Given the description of an element on the screen output the (x, y) to click on. 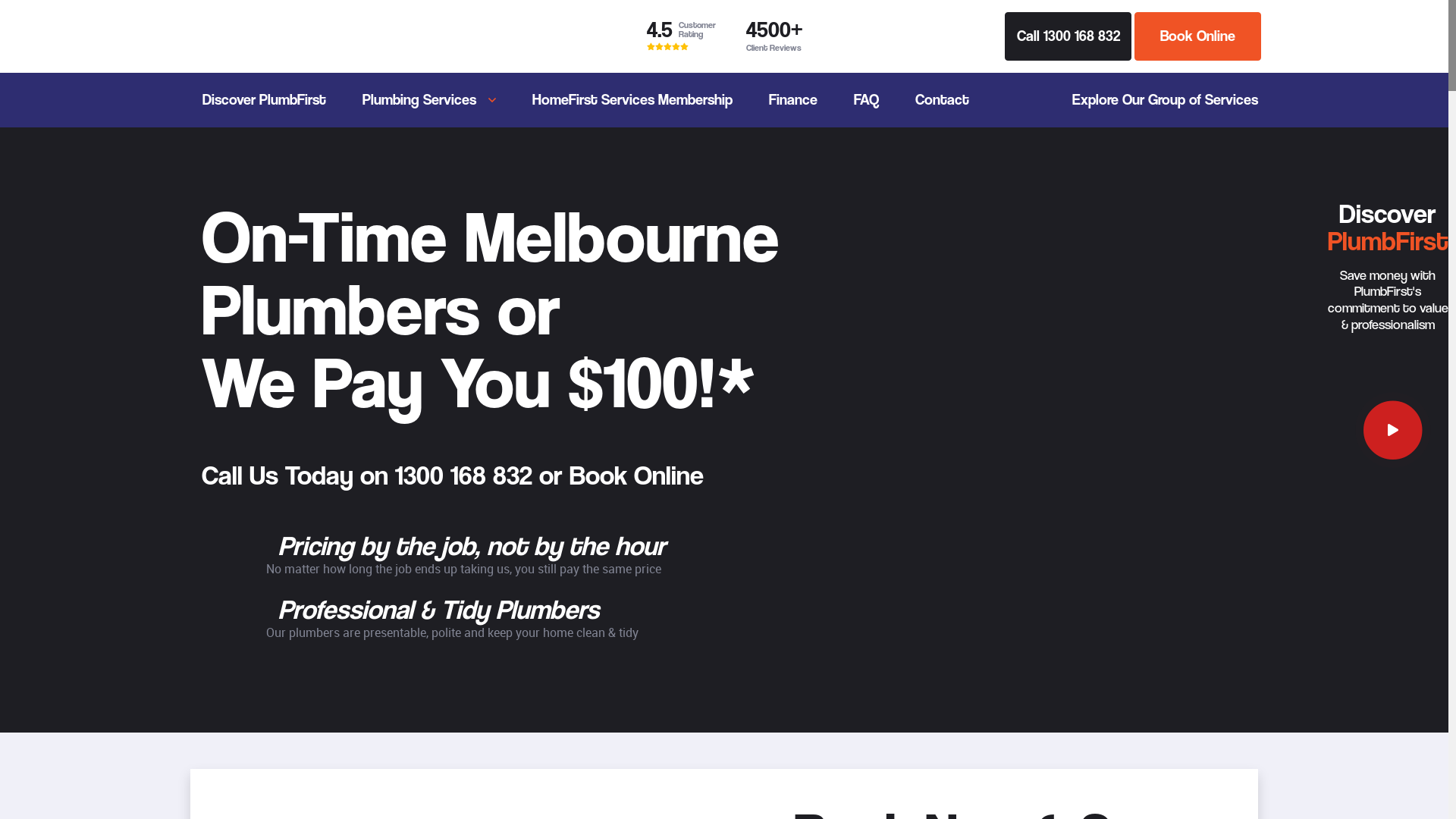
Discover PlumbFirst Element type: text (264, 99)
Contact Element type: text (942, 99)
1300 168 832 Element type: text (463, 475)
Book Online Element type: text (636, 475)
HomeFirst Services Membership Element type: text (632, 99)
Call 1300 168 832 Element type: text (1067, 36)
Finance Element type: text (792, 99)
HOMEFIRST SERVICES AUSTRALIA PTY LTD Element type: hover (223, 36)
FAQ Element type: text (866, 99)
Plumbing Services Element type: text (429, 99)
Book Online Element type: text (1197, 36)
Explore Our Group of Services Element type: text (1154, 99)
